Given the description of an element on the screen output the (x, y) to click on. 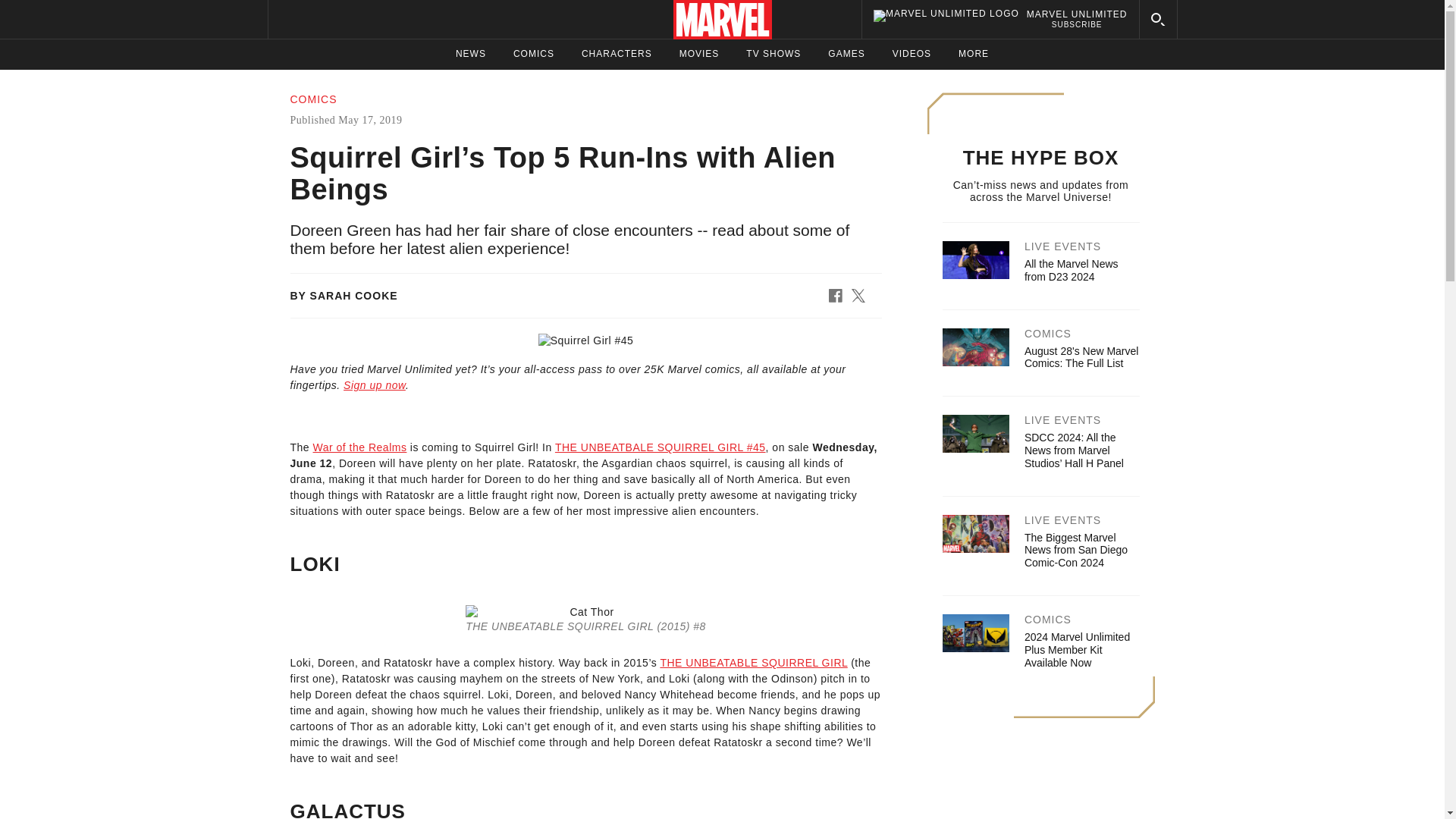
THE UNBEATABLE SQUIRREL GIRL (753, 662)
MORE (973, 54)
The Biggest Marvel News from San Diego Comic-Con 2024 (1075, 550)
TV SHOWS (772, 54)
VIDEOS (999, 19)
CHARACTERS (911, 54)
War of the Realms (616, 54)
Sign up now (360, 447)
All the Marvel News from D23 2024 (374, 385)
